Given the description of an element on the screen output the (x, y) to click on. 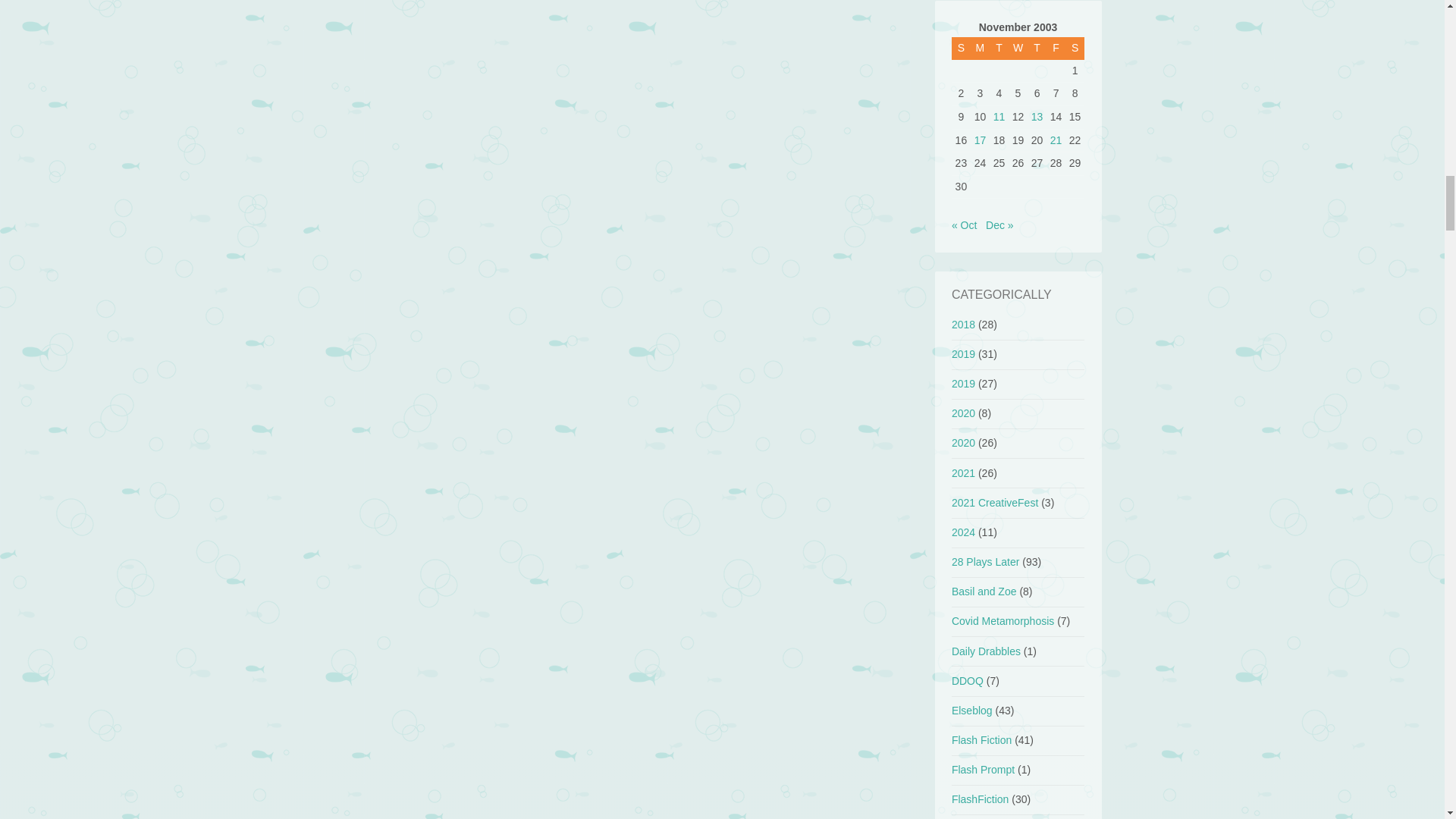
Thursday (1036, 47)
Tuesday (999, 47)
Sunday (961, 47)
Wednesday (1018, 47)
Friday (1055, 47)
Monday (980, 47)
